Given the description of an element on the screen output the (x, y) to click on. 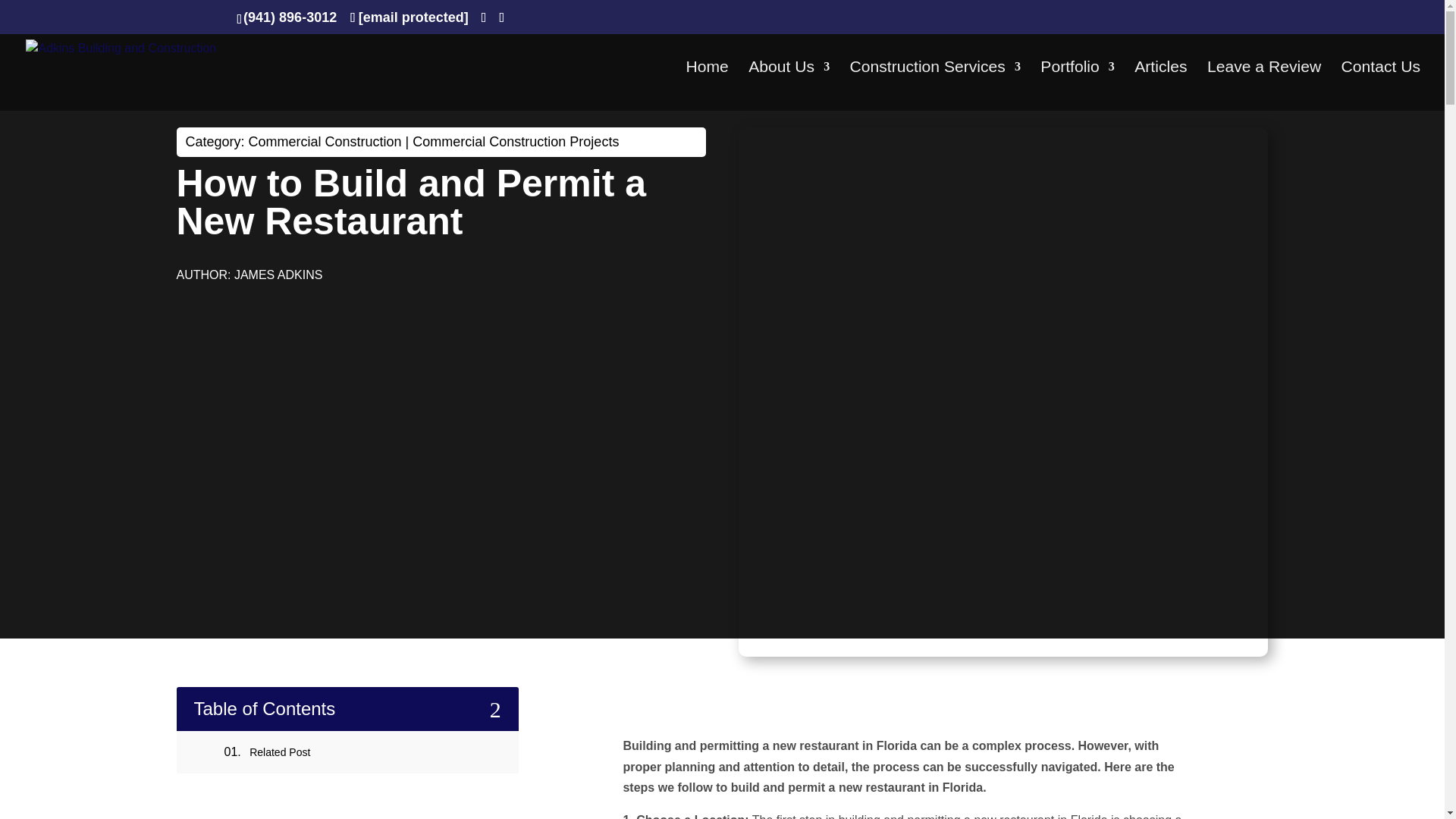
About Us (788, 85)
Commercial Construction (324, 141)
Commercial Construction Projects (515, 141)
Articles (1160, 85)
Related Post (279, 752)
Portfolio (1077, 85)
Contact Us (1380, 85)
Construction Services (935, 85)
Leave a Review (1263, 85)
